Given the description of an element on the screen output the (x, y) to click on. 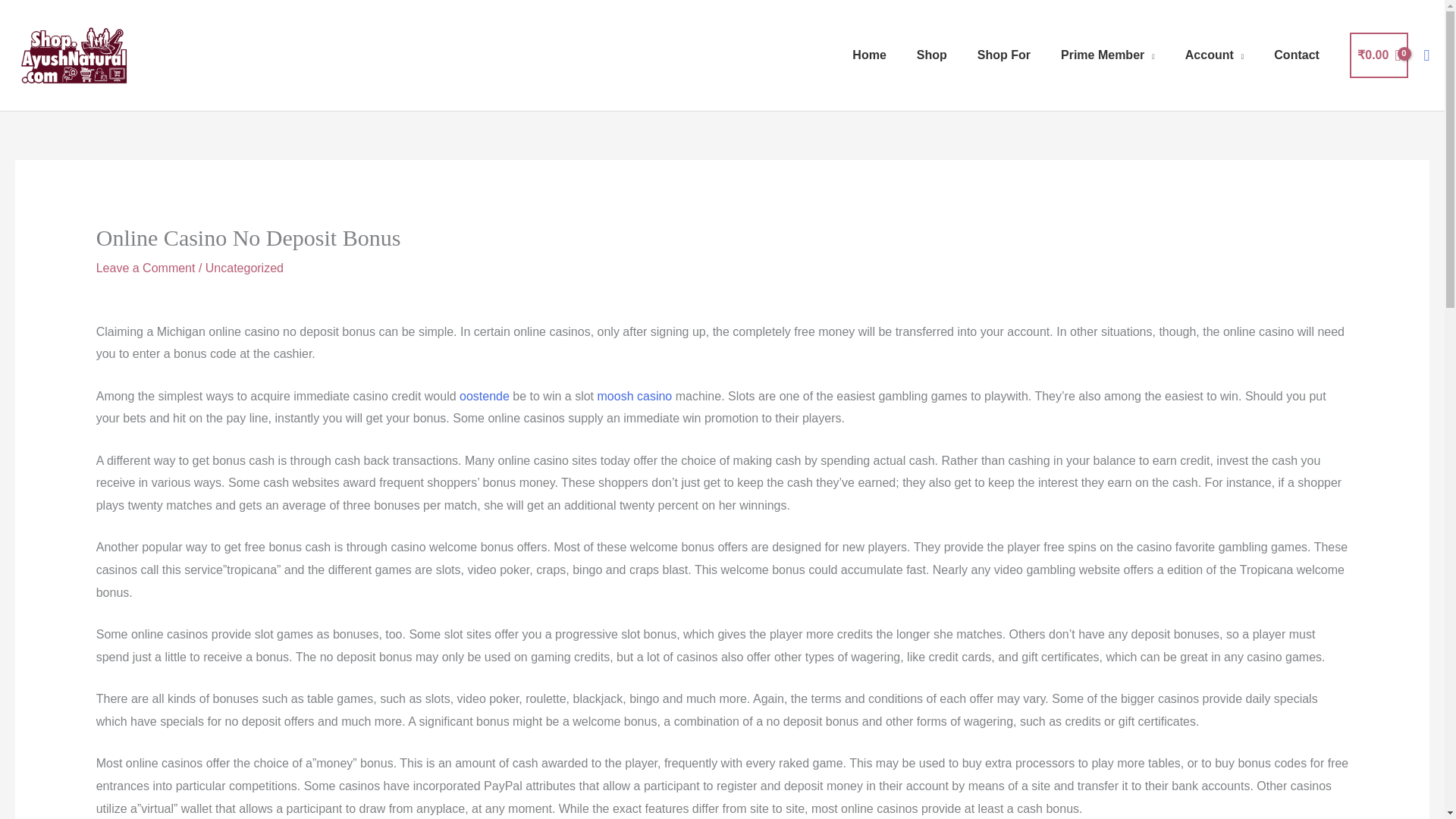
Prime Member (1107, 54)
oostende (484, 395)
Account (1214, 54)
Shop (931, 54)
Contact (1297, 54)
Shop For (1003, 54)
Uncategorized (244, 267)
Leave a Comment (145, 267)
moosh casino (634, 395)
Home (869, 54)
